Given the description of an element on the screen output the (x, y) to click on. 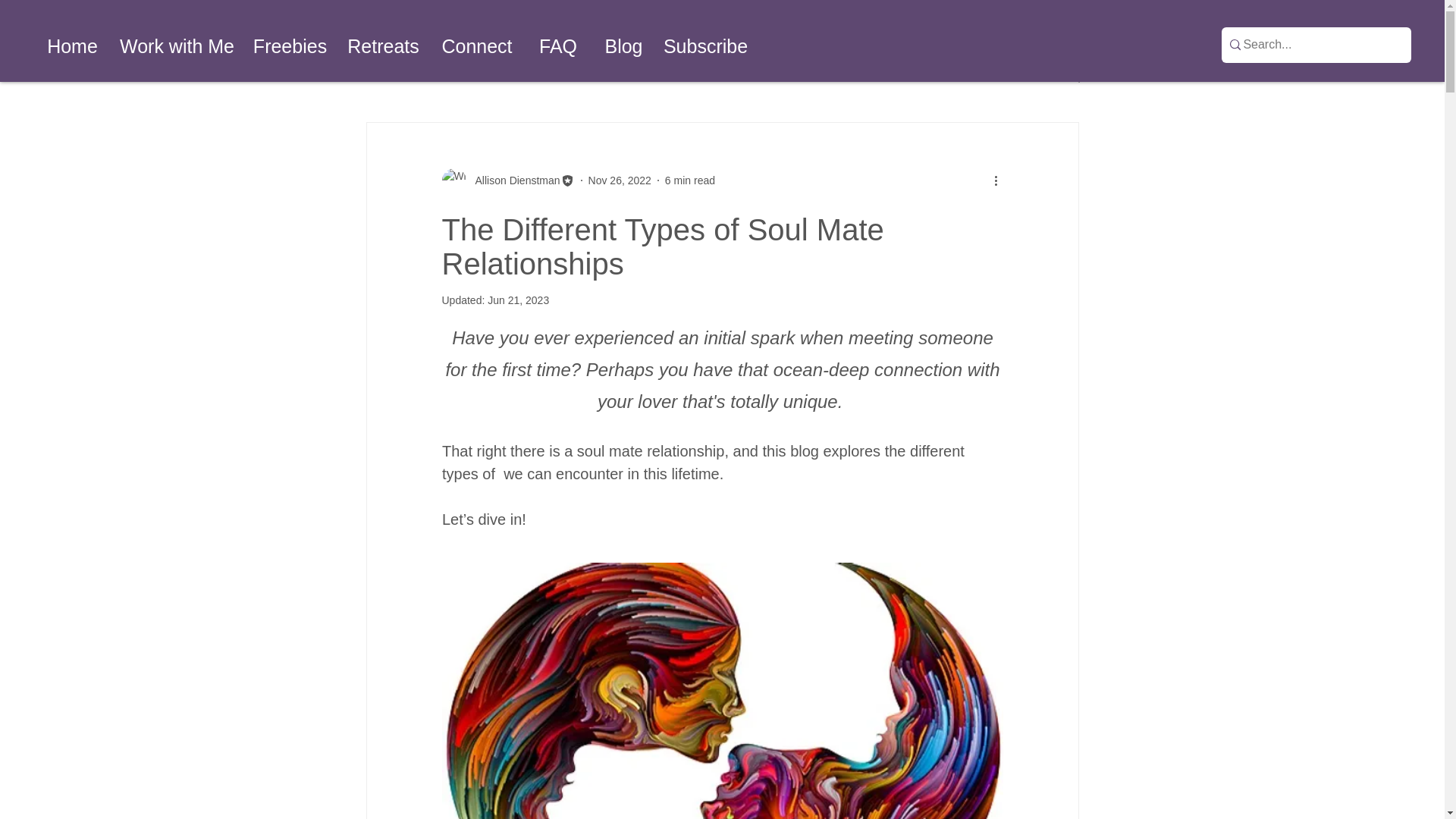
Freebies (289, 46)
Nov 26, 2022 (619, 180)
Retreats (382, 46)
Subscribe (705, 46)
Allison Dienstman (507, 180)
Jun 21, 2023 (517, 300)
Blog (623, 46)
Allison Dienstman (512, 180)
6 min read (689, 180)
